Given the description of an element on the screen output the (x, y) to click on. 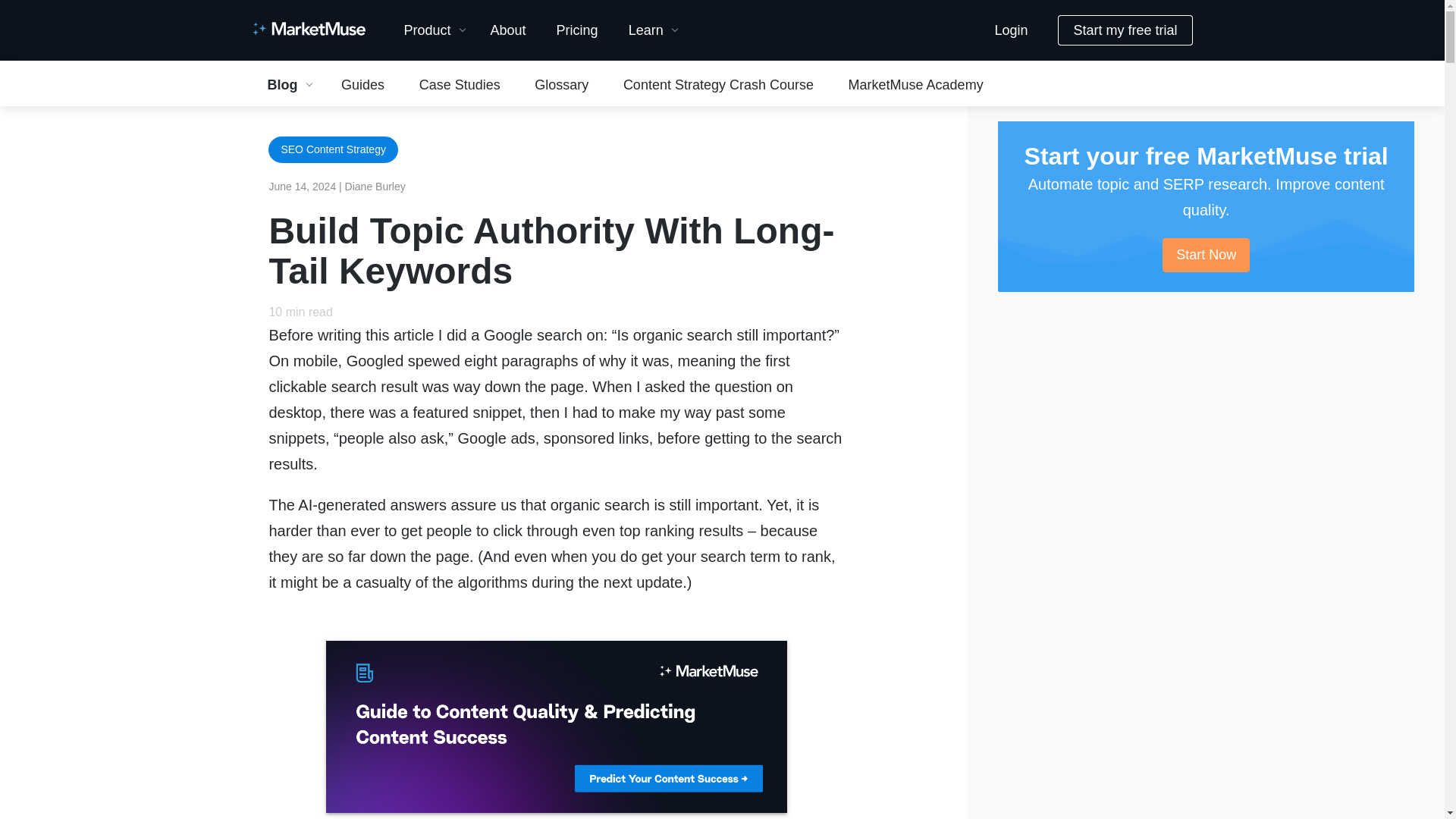
Start my free trial (1125, 30)
Learn (649, 30)
Case Studies (459, 84)
Pricing (576, 30)
Login (1010, 30)
MarketMuse Home (308, 30)
Product (431, 30)
Glossary (561, 84)
About (508, 30)
Guides (362, 84)
Blog (286, 84)
